Given the description of an element on the screen output the (x, y) to click on. 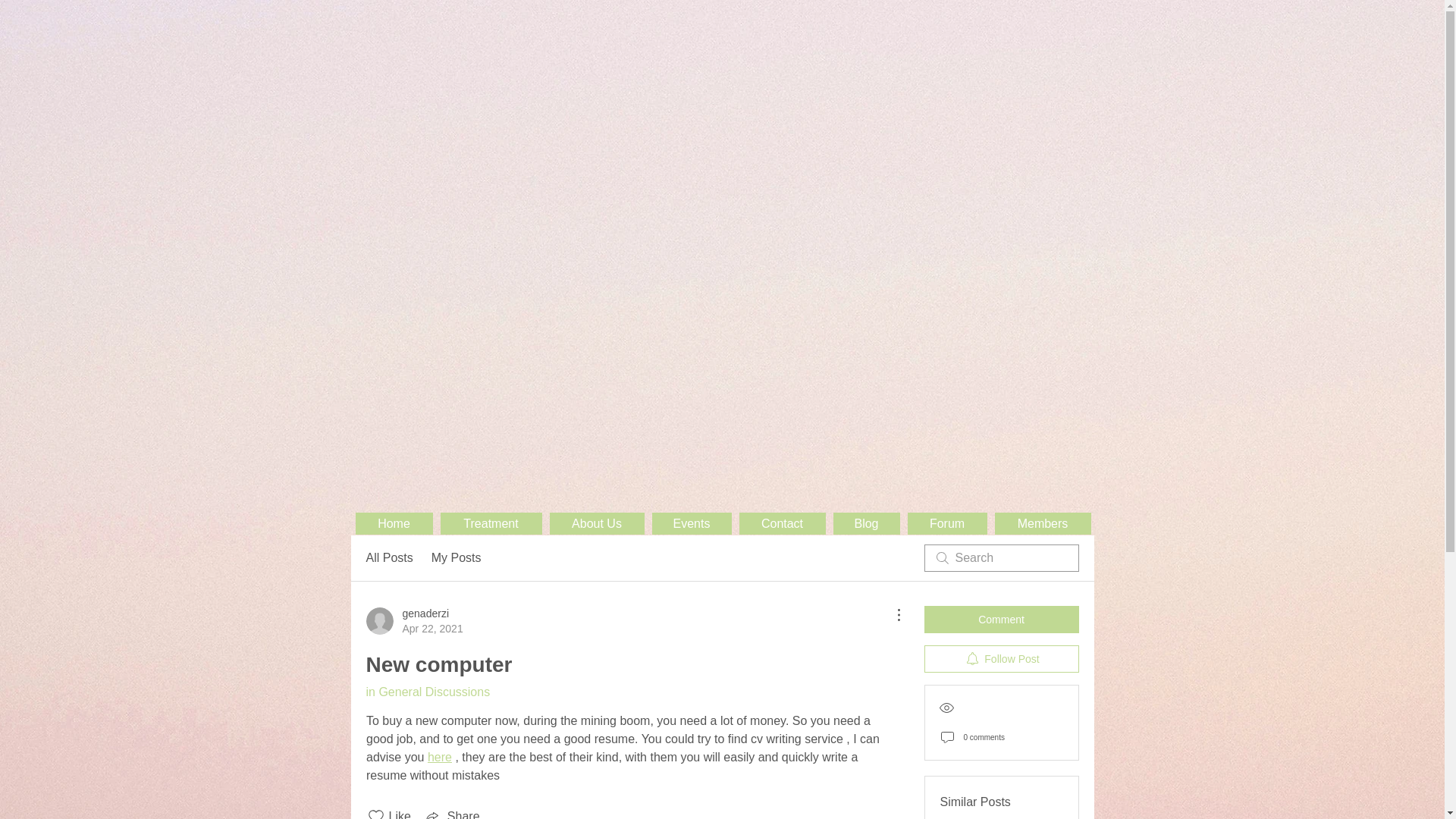
Events (692, 523)
All Posts (388, 557)
Forum (947, 523)
My Posts (455, 557)
in General Discussions (427, 691)
Share (451, 813)
About Us (595, 523)
Contact (781, 523)
Blog (865, 523)
Treatment (490, 523)
